Given the description of an element on the screen output the (x, y) to click on. 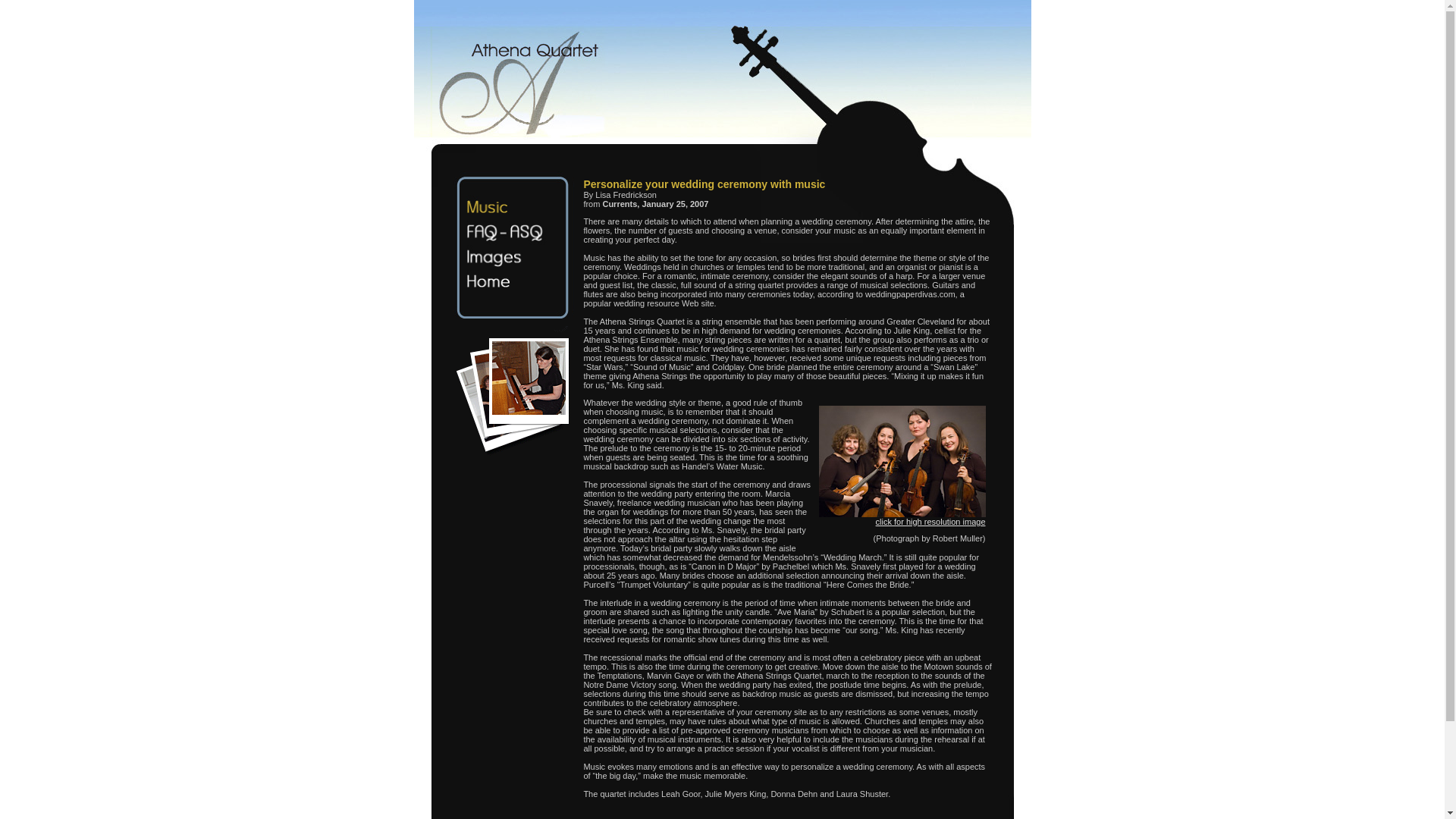
click for high resolution image (930, 521)
